Given the description of an element on the screen output the (x, y) to click on. 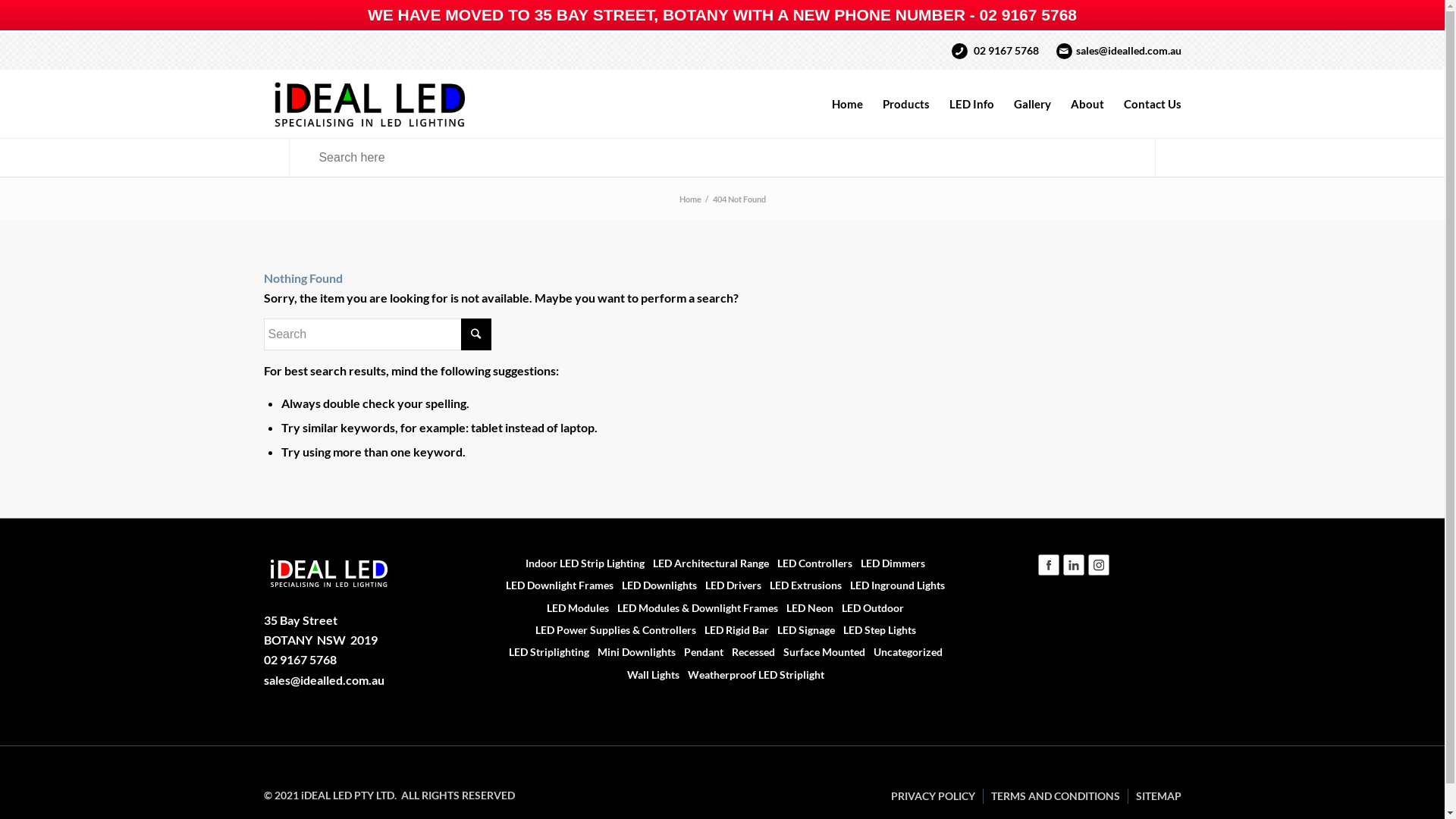
Mini Downlights Element type: text (632, 651)
sales@idealled.com.au Element type: text (1127, 49)
LED Modules & Downlight Frames Element type: text (694, 606)
Indoor LED Strip Lighting Element type: text (581, 562)
02 9167 5768 Element type: text (299, 659)
Products Element type: text (905, 103)
02 9167 5768 Element type: text (1005, 49)
Home Element type: text (847, 103)
LED Striplighting Element type: text (545, 651)
LED Inground Lights Element type: text (893, 584)
LED Downlight Frames Element type: text (555, 584)
Contact Us Element type: text (1146, 103)
Gallery Element type: text (1032, 103)
About Element type: text (1086, 103)
LED Info Element type: text (970, 103)
LED Dimmers Element type: text (889, 562)
Pendant Element type: text (700, 651)
Wall Lights Element type: text (649, 674)
Visit Us On Linkedin Element type: hover (1072, 571)
TERMS AND CONDITIONS Element type: text (1054, 795)
LED Downlights Element type: text (655, 584)
LED Signage Element type: text (802, 629)
LED Power Supplies & Controllers Element type: text (612, 629)
LED Neon Element type: text (806, 606)
LED Rigid Bar Element type: text (732, 629)
Recessed Element type: text (749, 651)
Visit Us On Facebook Element type: hover (1047, 571)
LED Outdoor Element type: text (868, 606)
Weatherproof LED Striplight Element type: text (752, 674)
PRIVACY POLICY Element type: text (932, 795)
LED Controllers Element type: text (811, 562)
Visit Us On Instagram Element type: hover (1097, 571)
Uncategorized Element type: text (904, 651)
SITEMAP Element type: text (1158, 795)
LED Architectural Range Element type: text (707, 562)
LED Step Lights Element type: text (876, 629)
sales@idealled.com.au Element type: text (323, 679)
LED Drivers Element type: text (729, 584)
LED Extrusions Element type: text (801, 584)
LED Modules Element type: text (573, 606)
Home Element type: text (690, 198)
Surface Mounted Element type: text (820, 651)
